Given the description of an element on the screen output the (x, y) to click on. 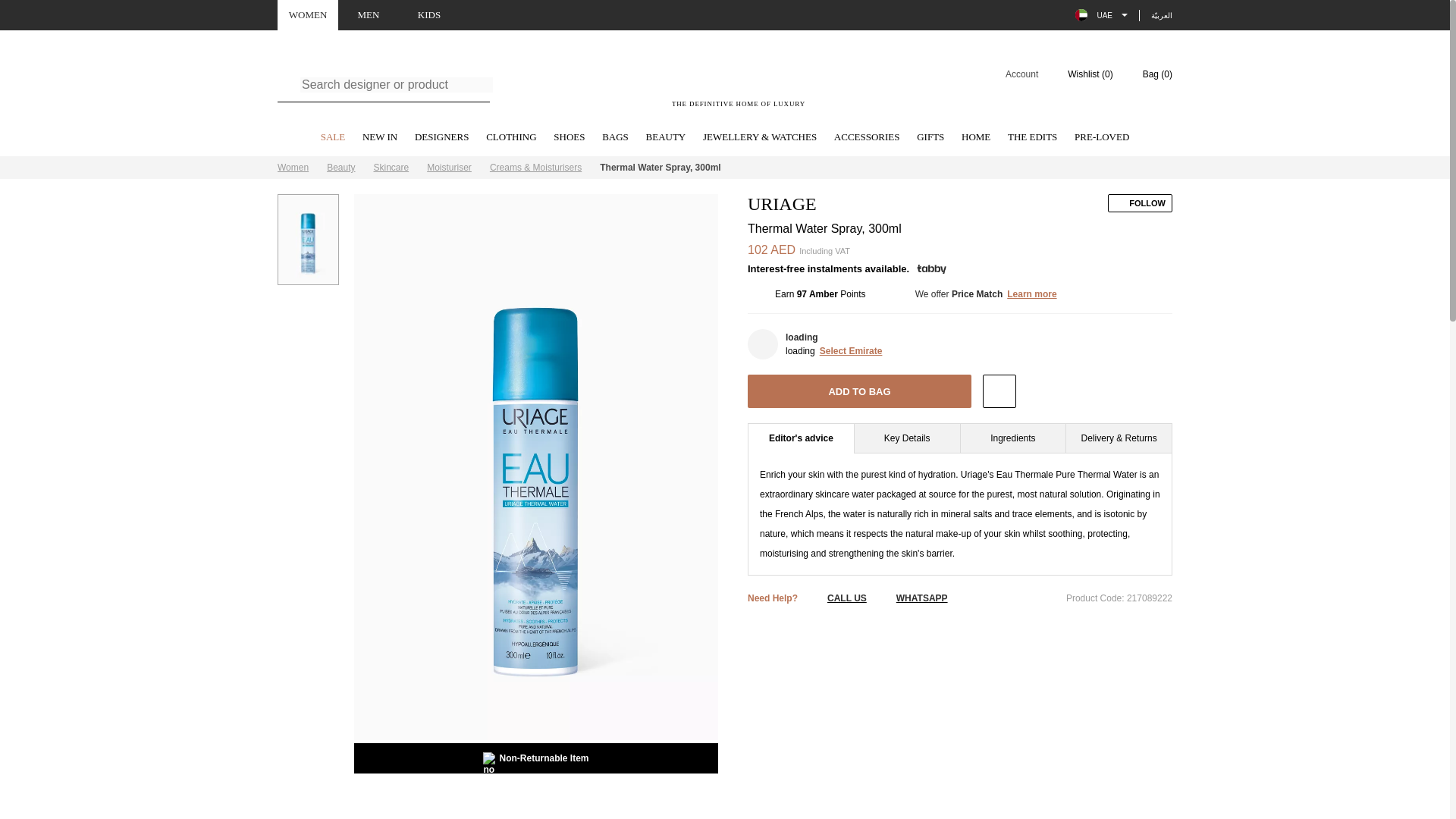
PRE-LOVED (1101, 137)
MEN (367, 15)
SALE (333, 137)
ACCESSORIES (866, 137)
BEAUTY (665, 137)
HOME (975, 137)
WOMEN (307, 15)
CLOTHING (510, 137)
GIFTS (930, 137)
SHOES (569, 137)
UAE (1101, 15)
THE EDITS (1032, 137)
NEW IN (379, 137)
Account (1012, 73)
BAGS (615, 137)
